Given the description of an element on the screen output the (x, y) to click on. 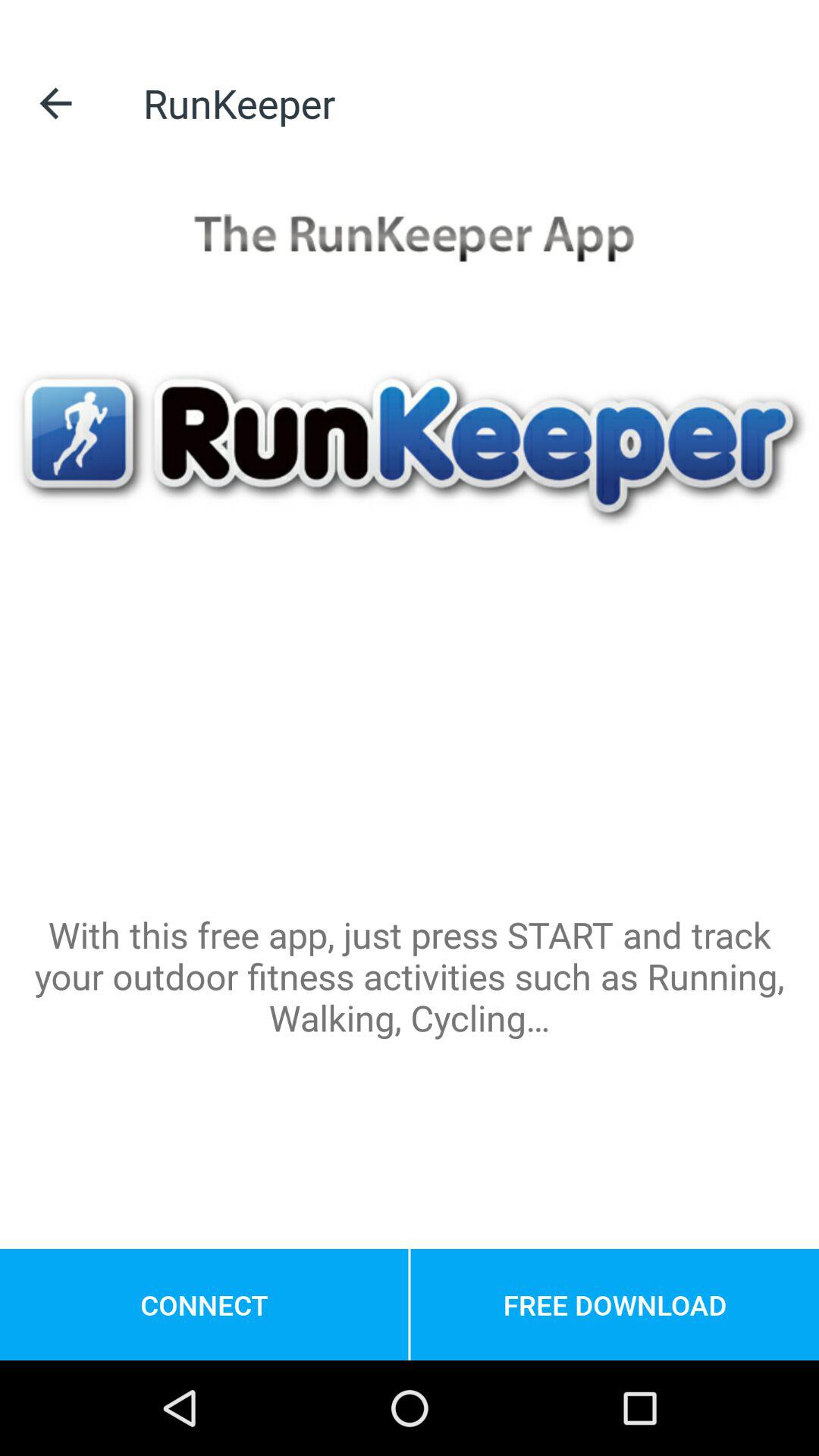
choose free download item (614, 1304)
